Given the description of an element on the screen output the (x, y) to click on. 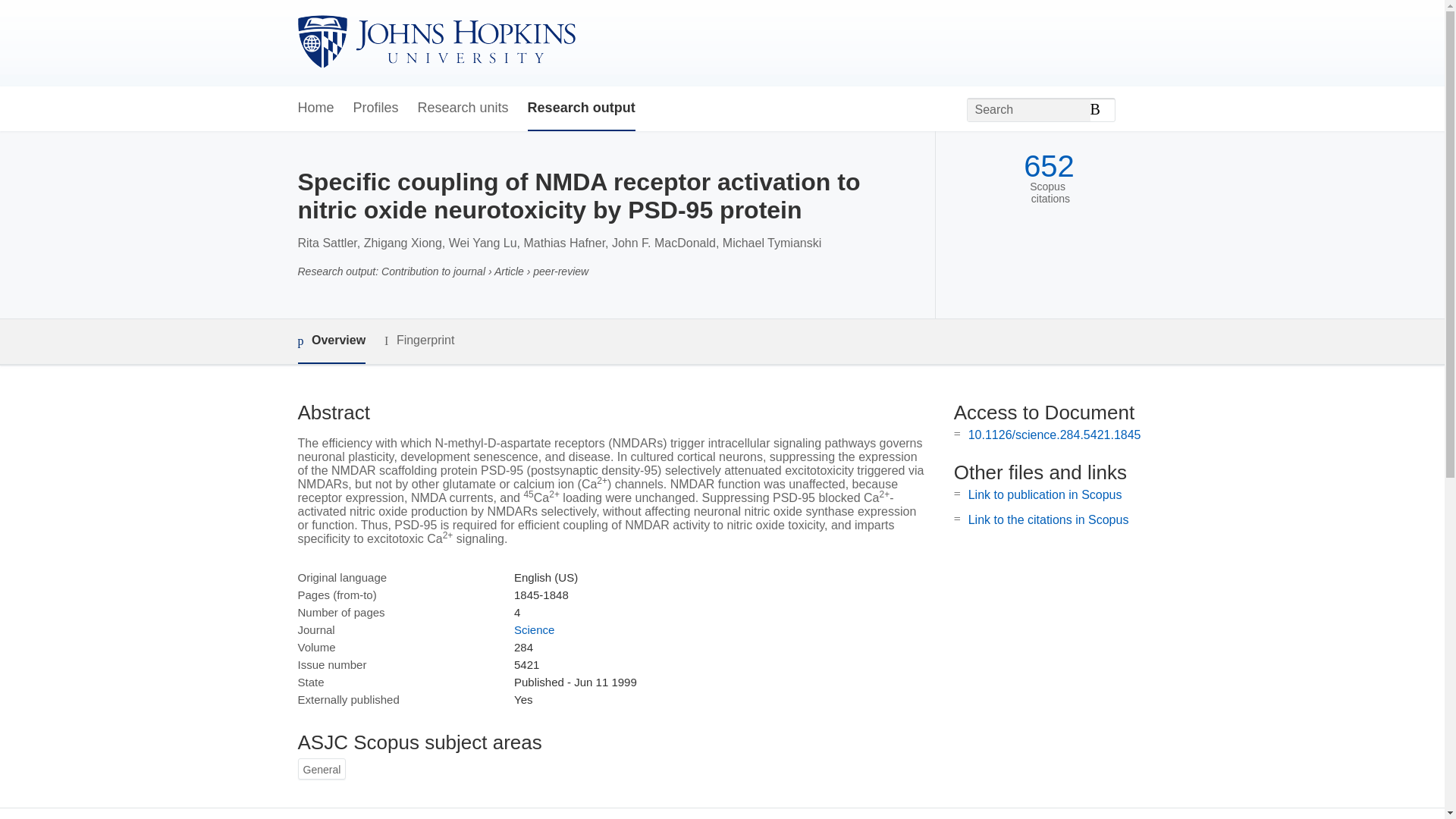
652 (1048, 166)
Research units (462, 108)
Science (533, 629)
Overview (331, 341)
Fingerprint (419, 340)
Link to the citations in Scopus (1048, 519)
Profiles (375, 108)
Link to publication in Scopus (1045, 494)
Research output (580, 108)
Johns Hopkins University Home (436, 43)
